Given the description of an element on the screen output the (x, y) to click on. 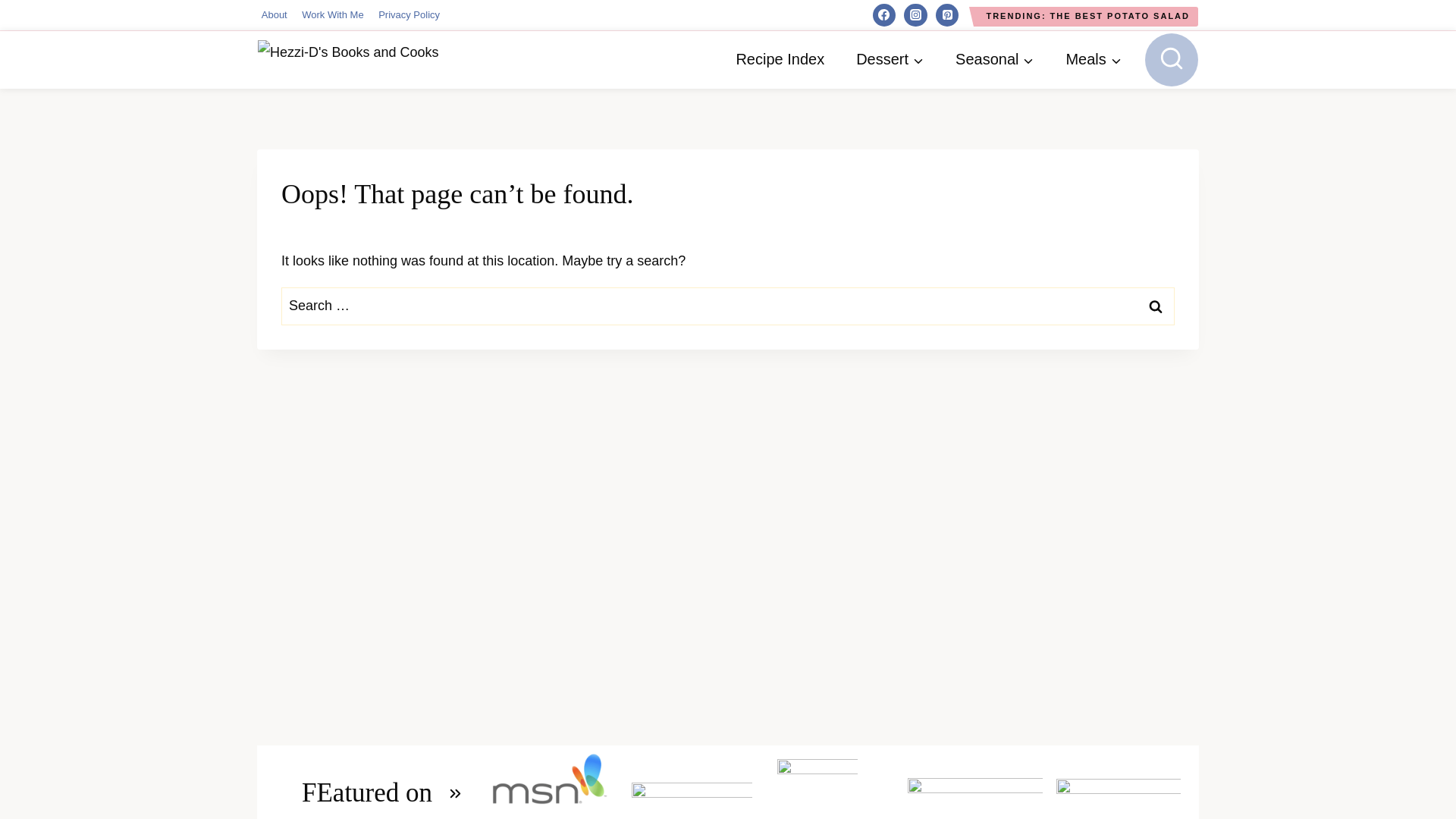
About (273, 15)
Search (1155, 306)
Recipe Index (779, 59)
TRENDING: THE BEST POTATO SALAD (1087, 16)
Seasonal (994, 59)
Work With Me (332, 15)
Privacy Policy (408, 15)
Meals (1093, 59)
Search (1155, 306)
Dessert (889, 59)
